Given the description of an element on the screen output the (x, y) to click on. 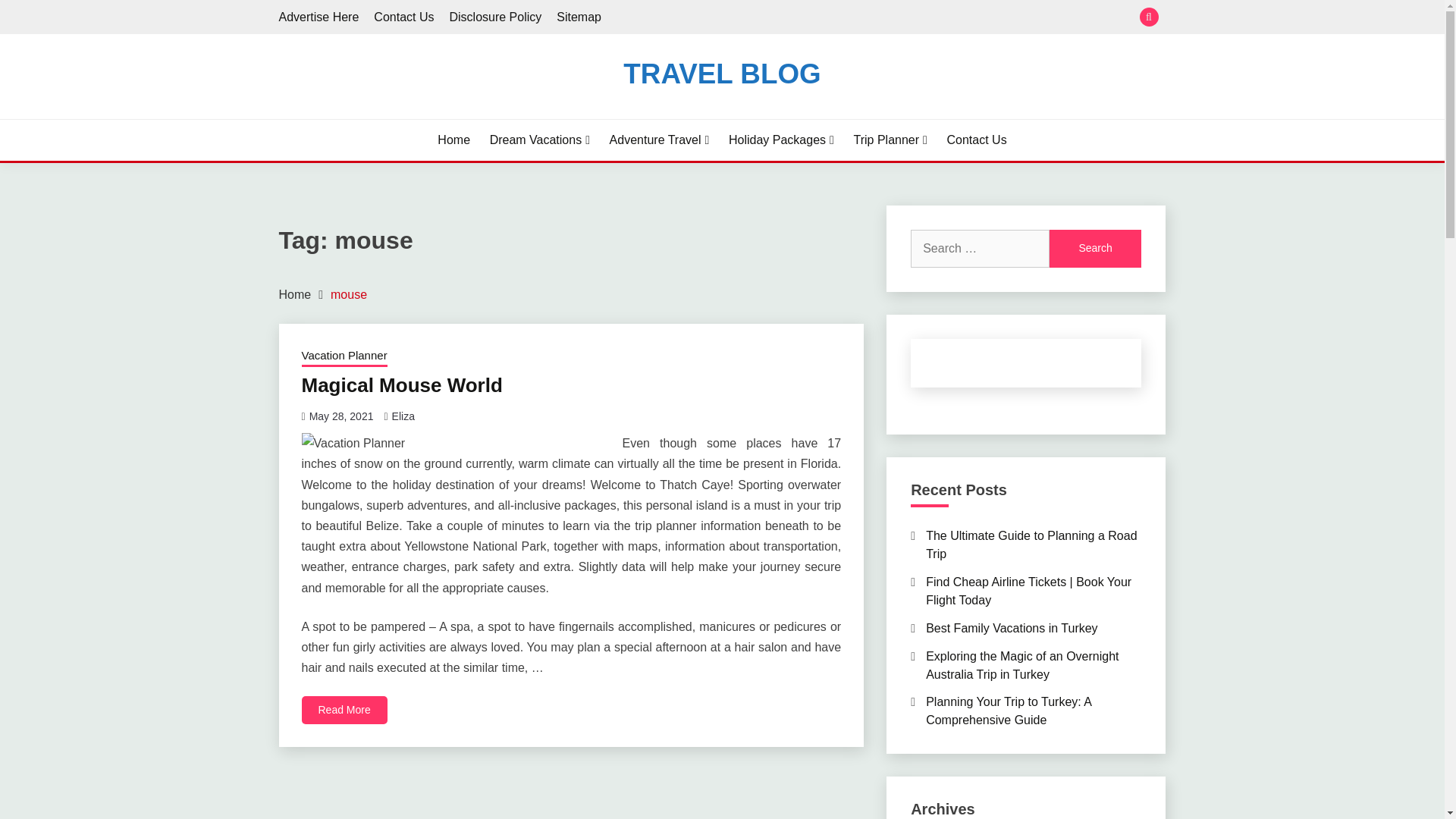
Search (1095, 248)
Contact Us (403, 16)
Trip Planner (890, 140)
mouse (348, 294)
Home (295, 294)
Adventure Travel (660, 140)
Home (454, 140)
TRAVEL BLOG (722, 73)
Holiday Packages (781, 140)
Search (1095, 248)
